Given the description of an element on the screen output the (x, y) to click on. 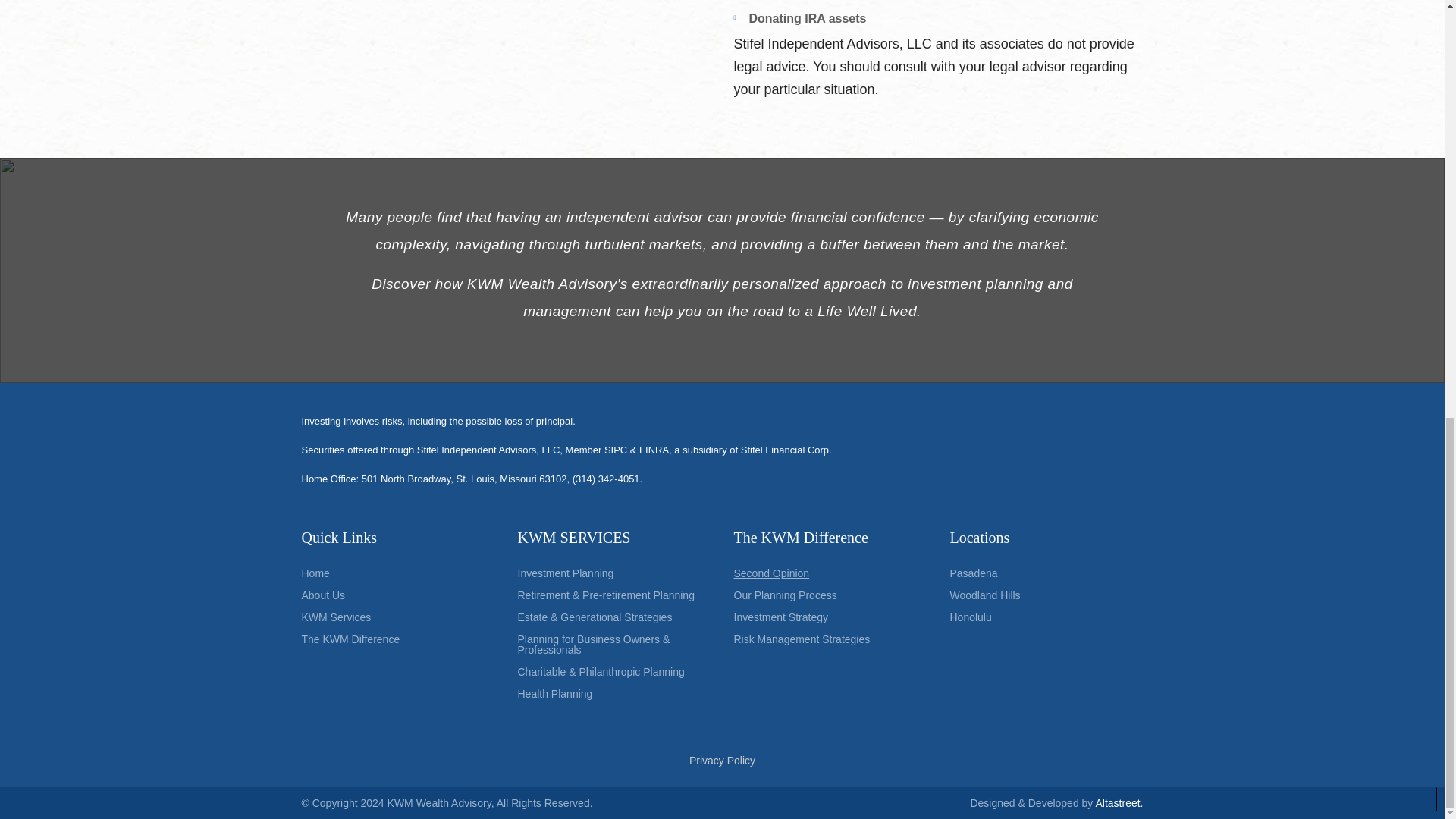
The KWM Difference (398, 638)
Investment Strategy (830, 616)
About Us (398, 594)
Risk Management Strategies (830, 638)
Investment Planning (613, 573)
Home (398, 573)
KWM Services (398, 616)
Health Planning (613, 693)
Our Planning Process (830, 594)
Second Opinion (830, 573)
